Given the description of an element on the screen output the (x, y) to click on. 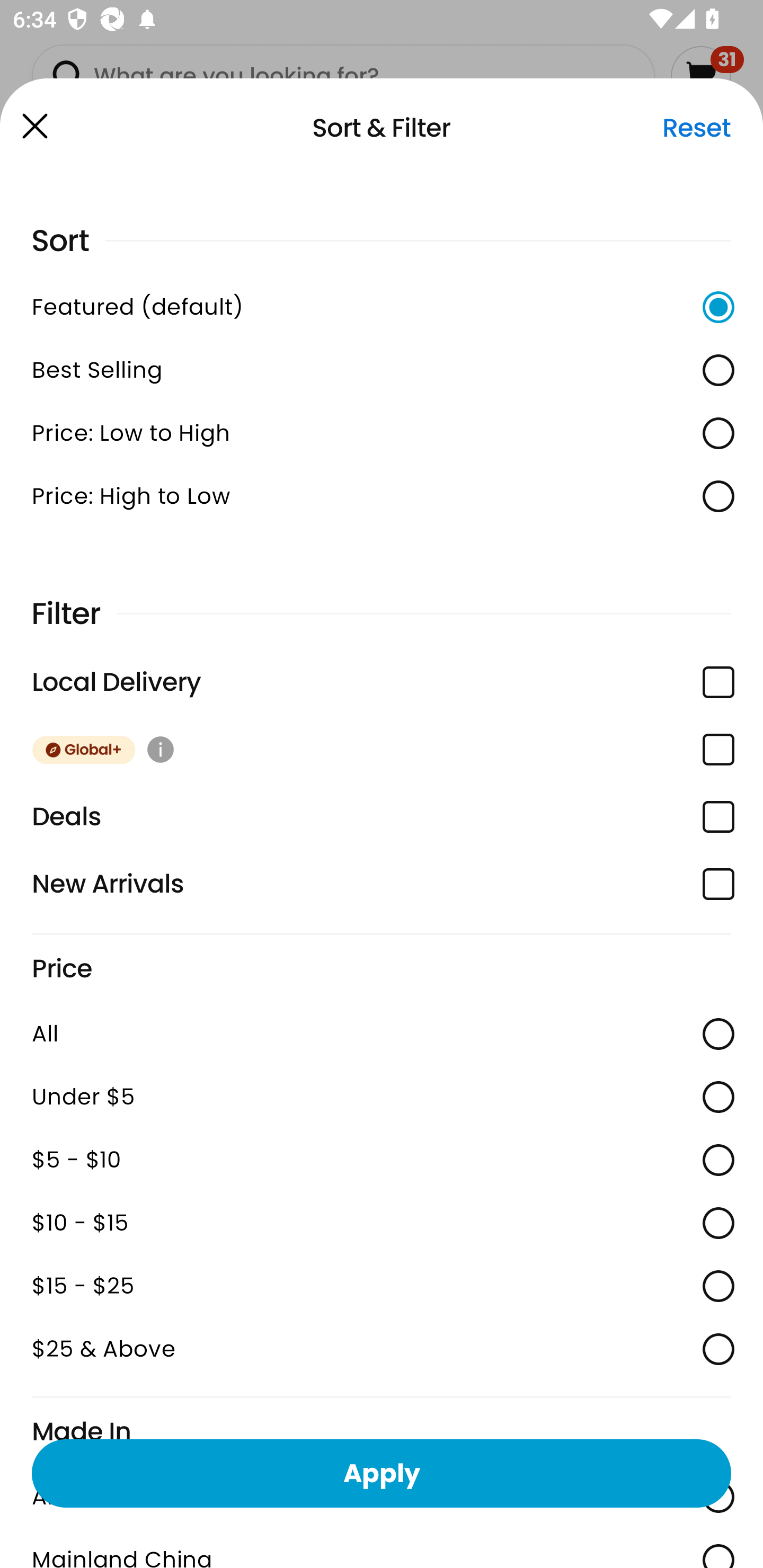
Reset (696, 127)
Apply (381, 1472)
